Given the description of an element on the screen output the (x, y) to click on. 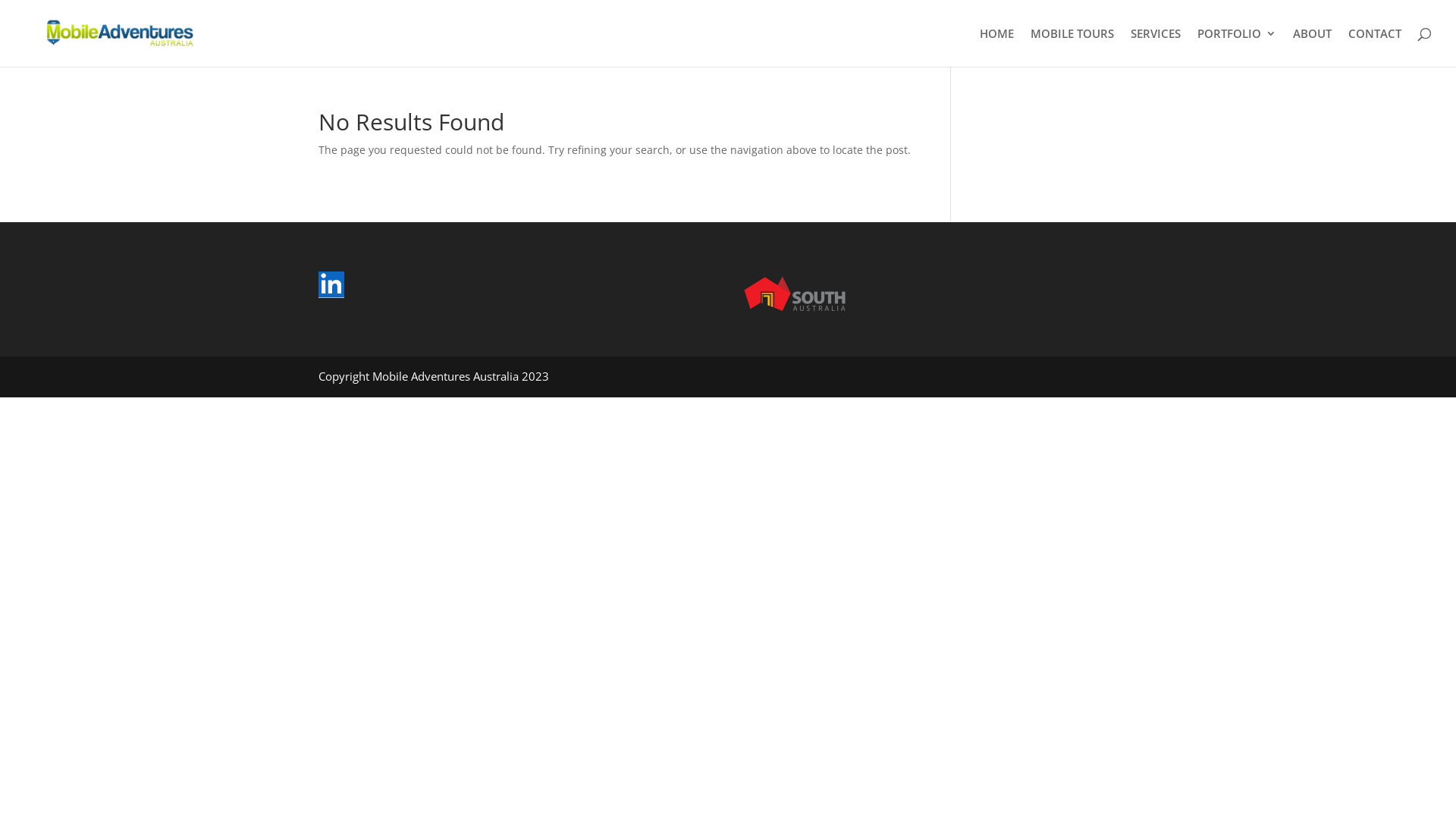
HOME Element type: text (996, 47)
SERVICES Element type: text (1155, 47)
ABOUT Element type: text (1311, 47)
MOBILE TOURS Element type: text (1071, 47)
PORTFOLIO Element type: text (1236, 47)
CONTACT Element type: text (1374, 47)
